Given the description of an element on the screen output the (x, y) to click on. 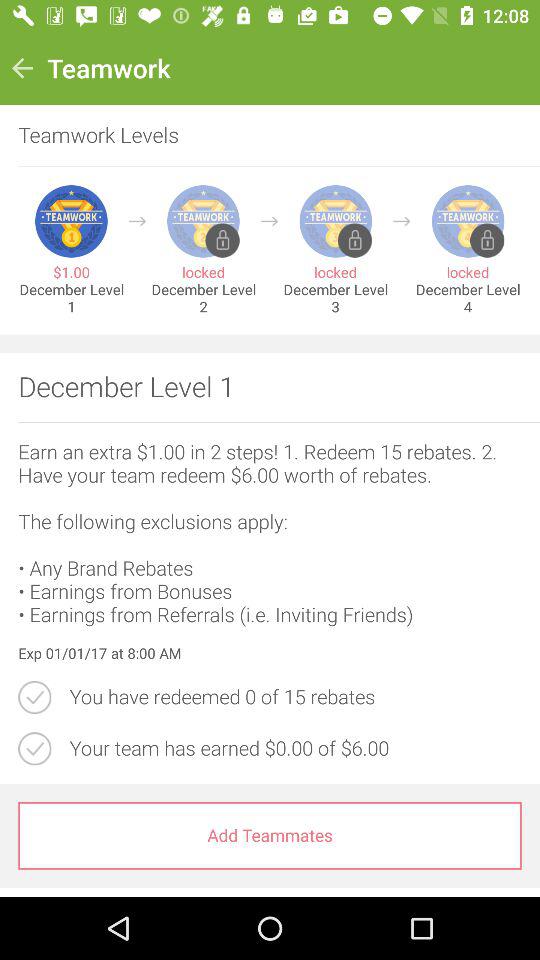
open item above december level 1 item (137, 221)
